Given the description of an element on the screen output the (x, y) to click on. 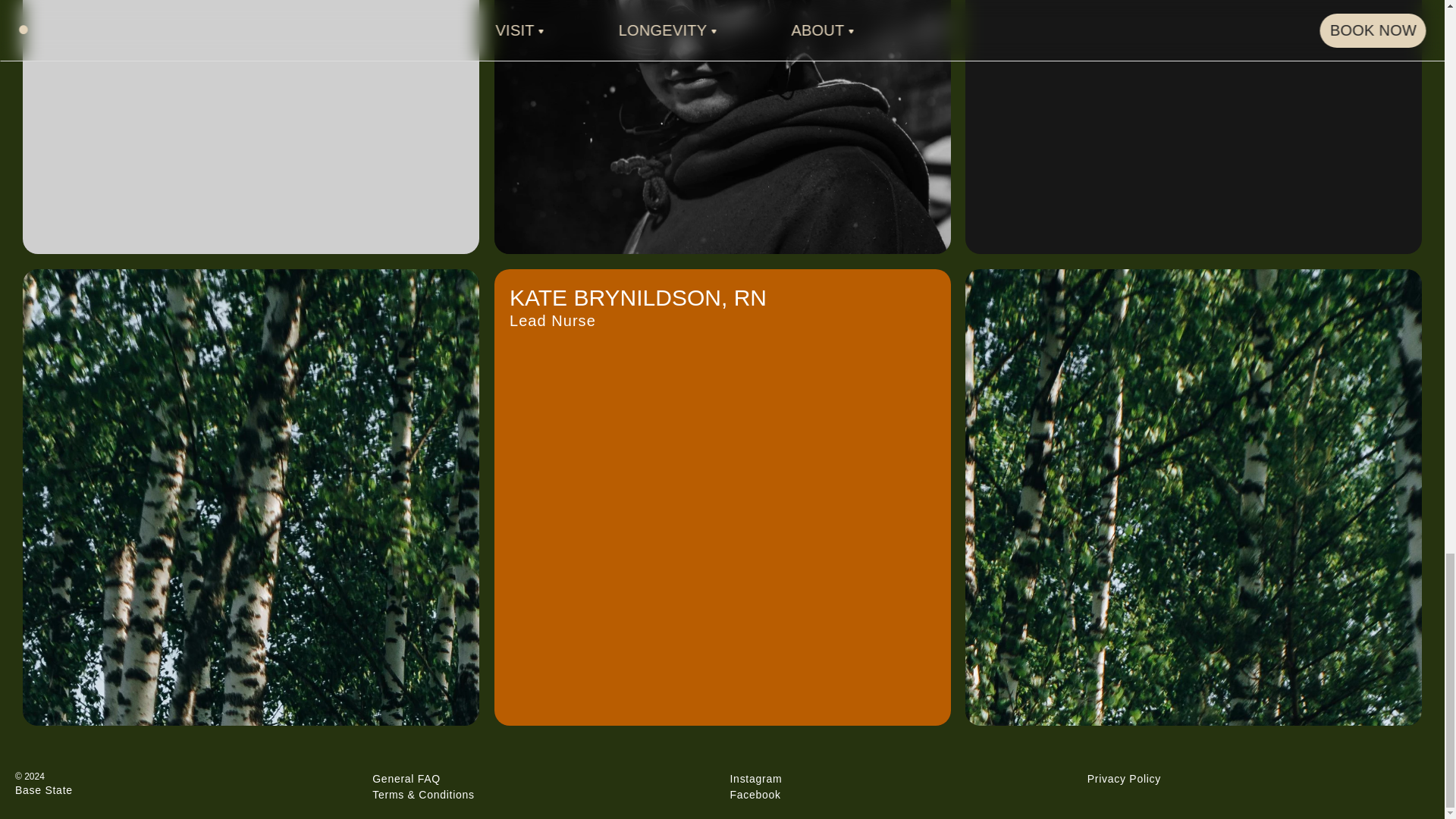
General FAQ (406, 778)
Facebook (722, 126)
Instagram (1193, 126)
Privacy Policy (754, 794)
